Given the description of an element on the screen output the (x, y) to click on. 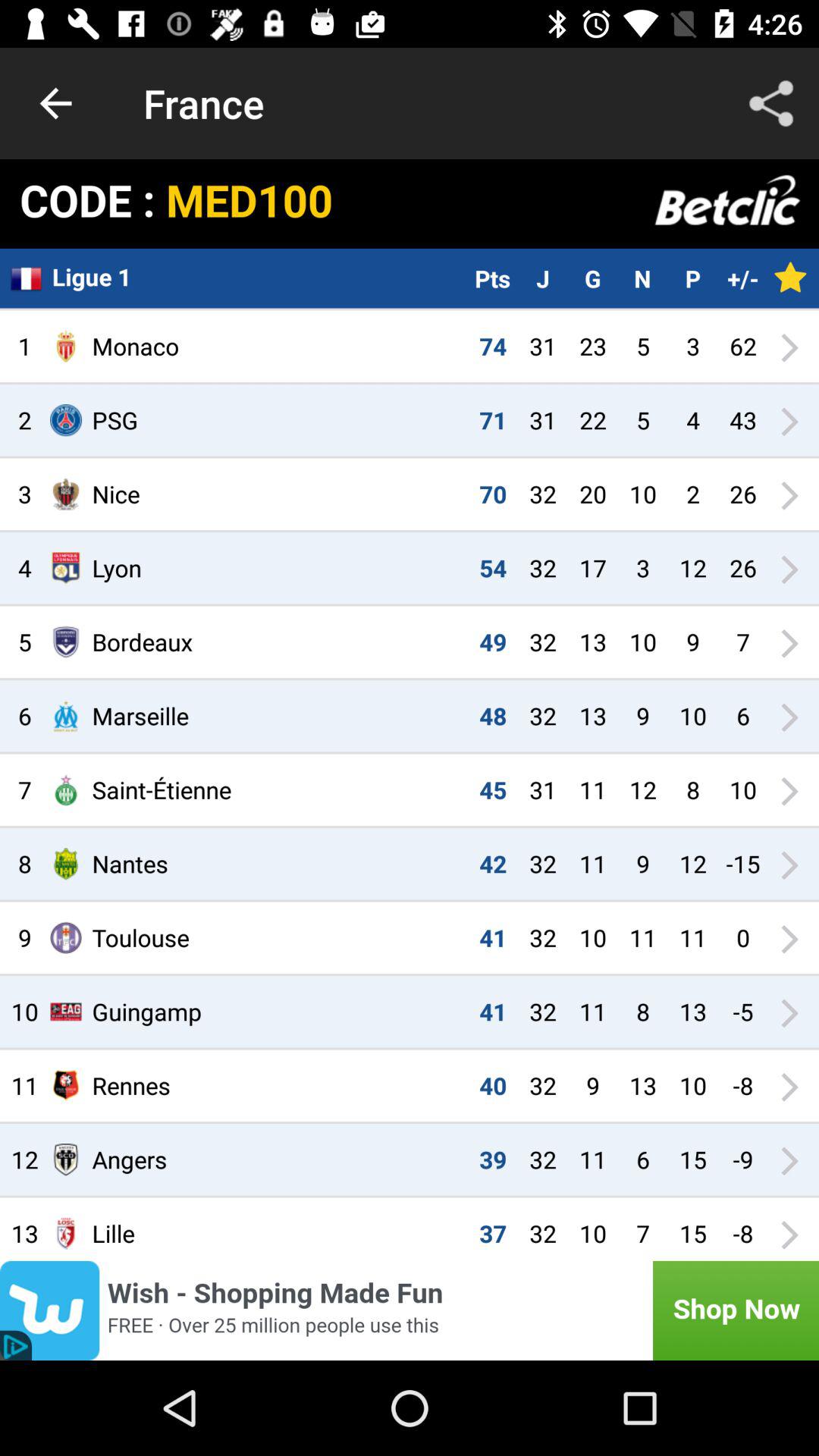
redirect to wish advertisement (409, 1310)
